Given the description of an element on the screen output the (x, y) to click on. 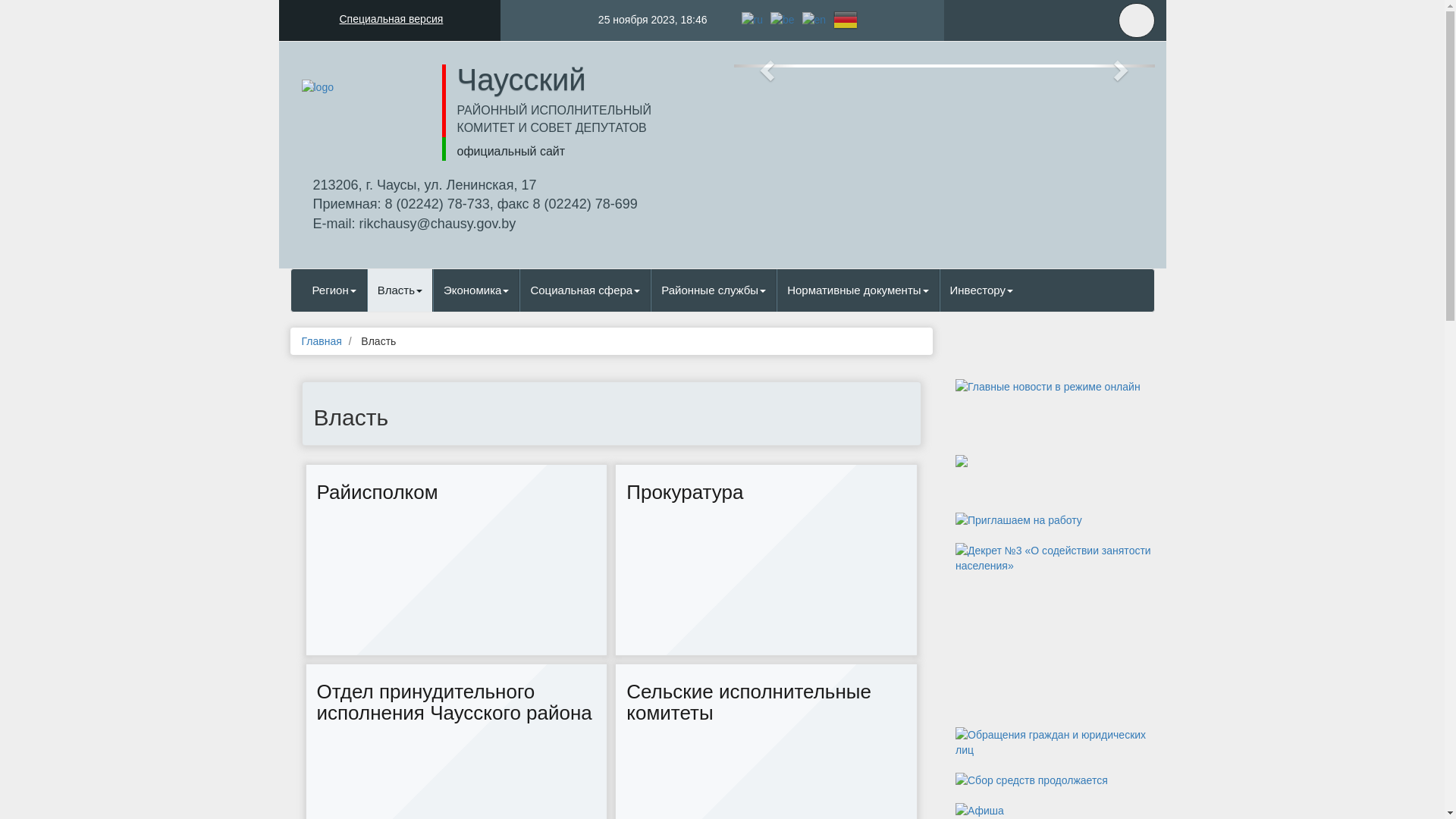
German Element type: hover (845, 18)
Belarusian Element type: hover (782, 18)
English Element type: hover (814, 18)
Russian Element type: hover (751, 18)
